Given the description of an element on the screen output the (x, y) to click on. 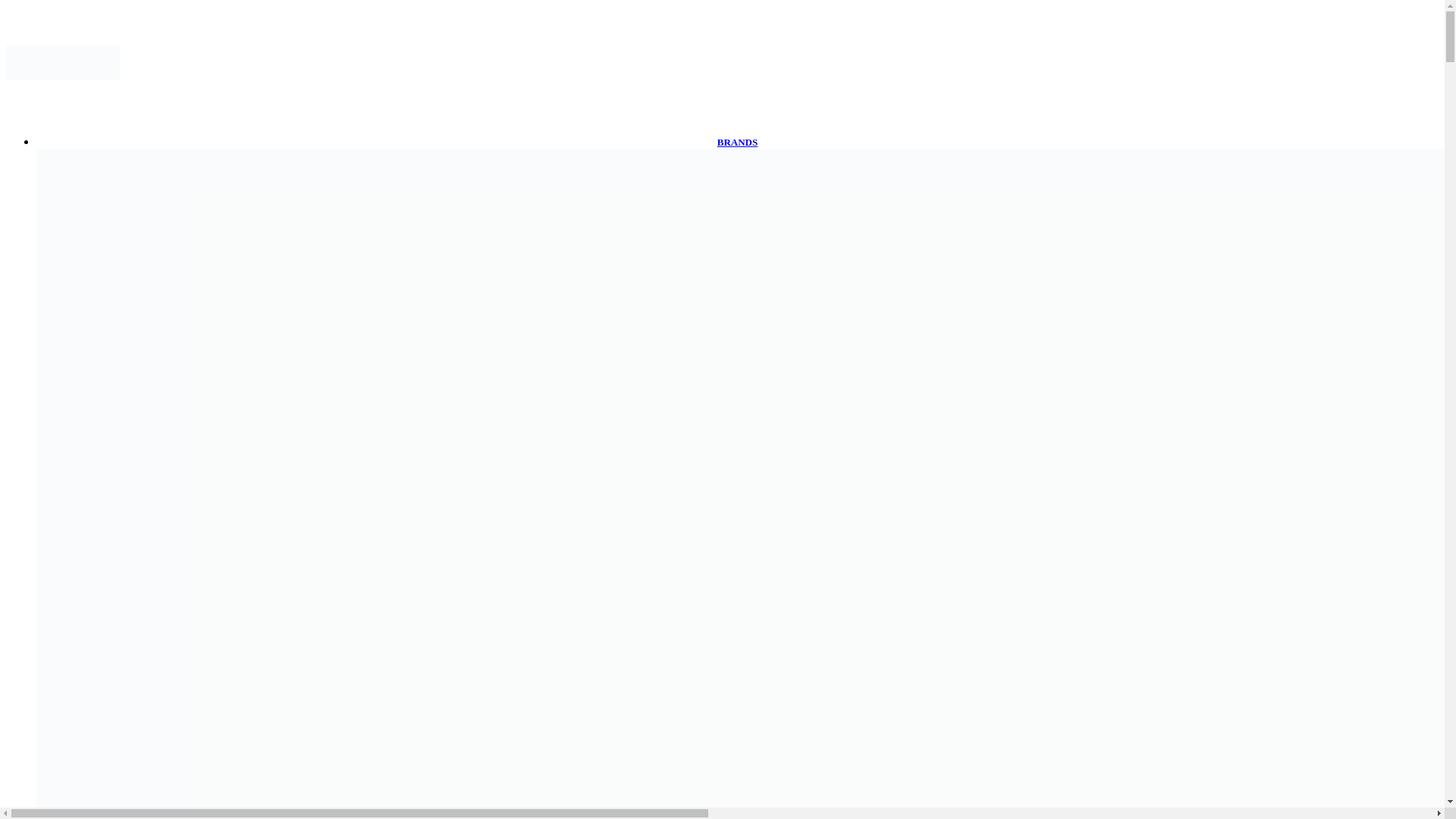
BRANDS Element type: text (737, 142)
